Given the description of an element on the screen output the (x, y) to click on. 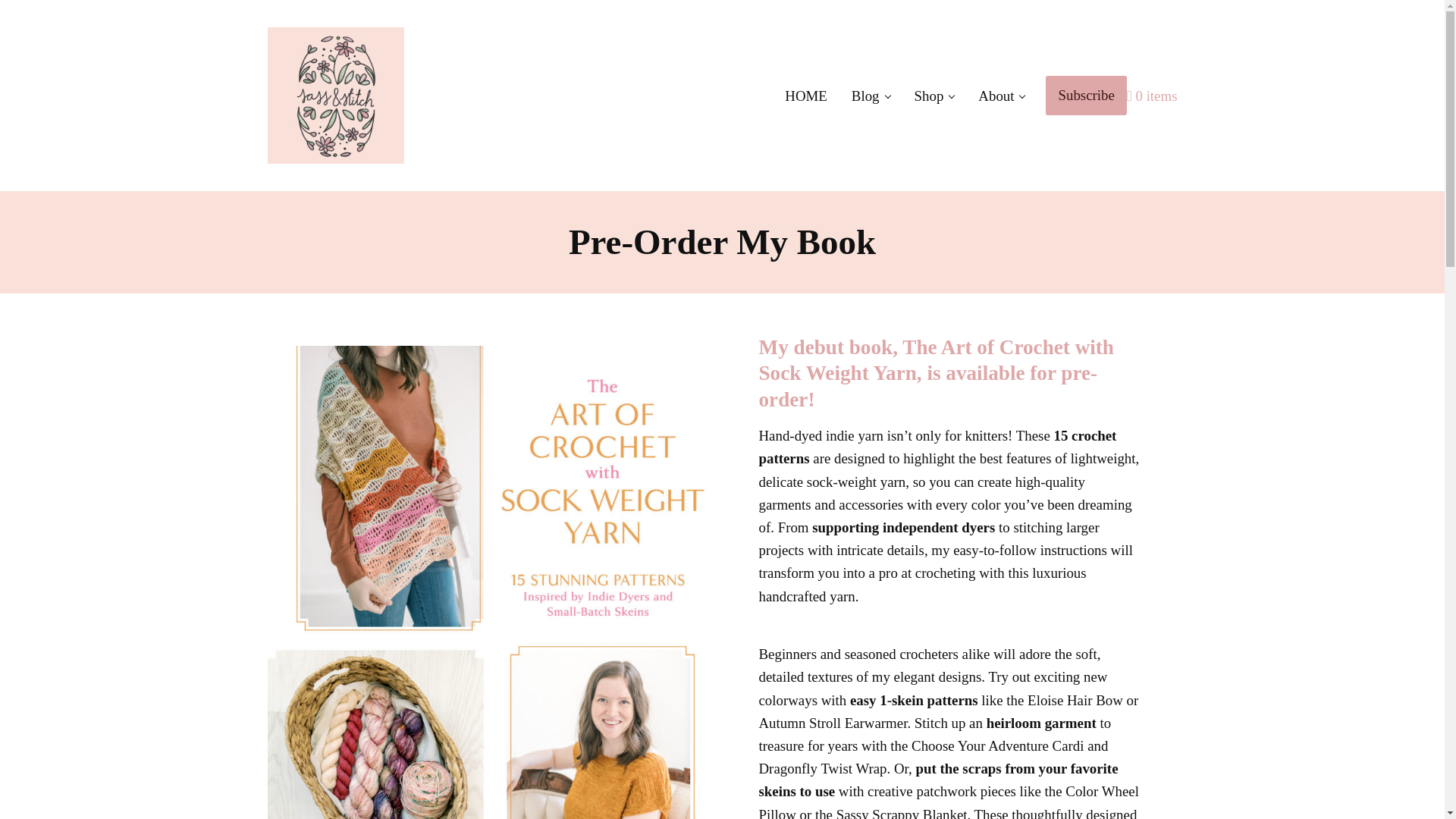
Subscribe (1085, 96)
Shop (934, 95)
Blog (871, 95)
0 items (1151, 95)
Start shopping (1151, 95)
About (1001, 95)
HOME (806, 95)
